Given the description of an element on the screen output the (x, y) to click on. 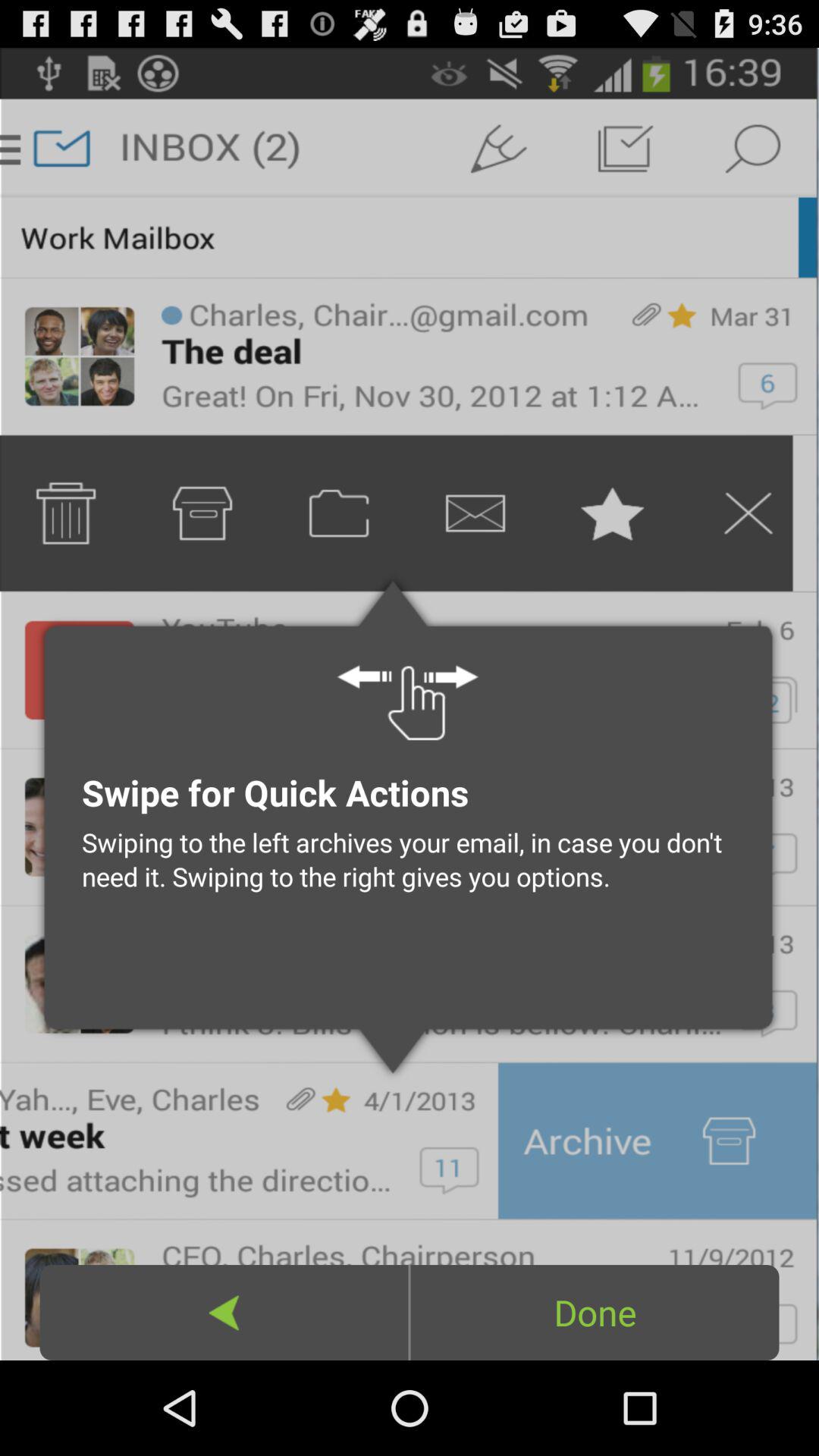
flip until done (594, 1312)
